Given the description of an element on the screen output the (x, y) to click on. 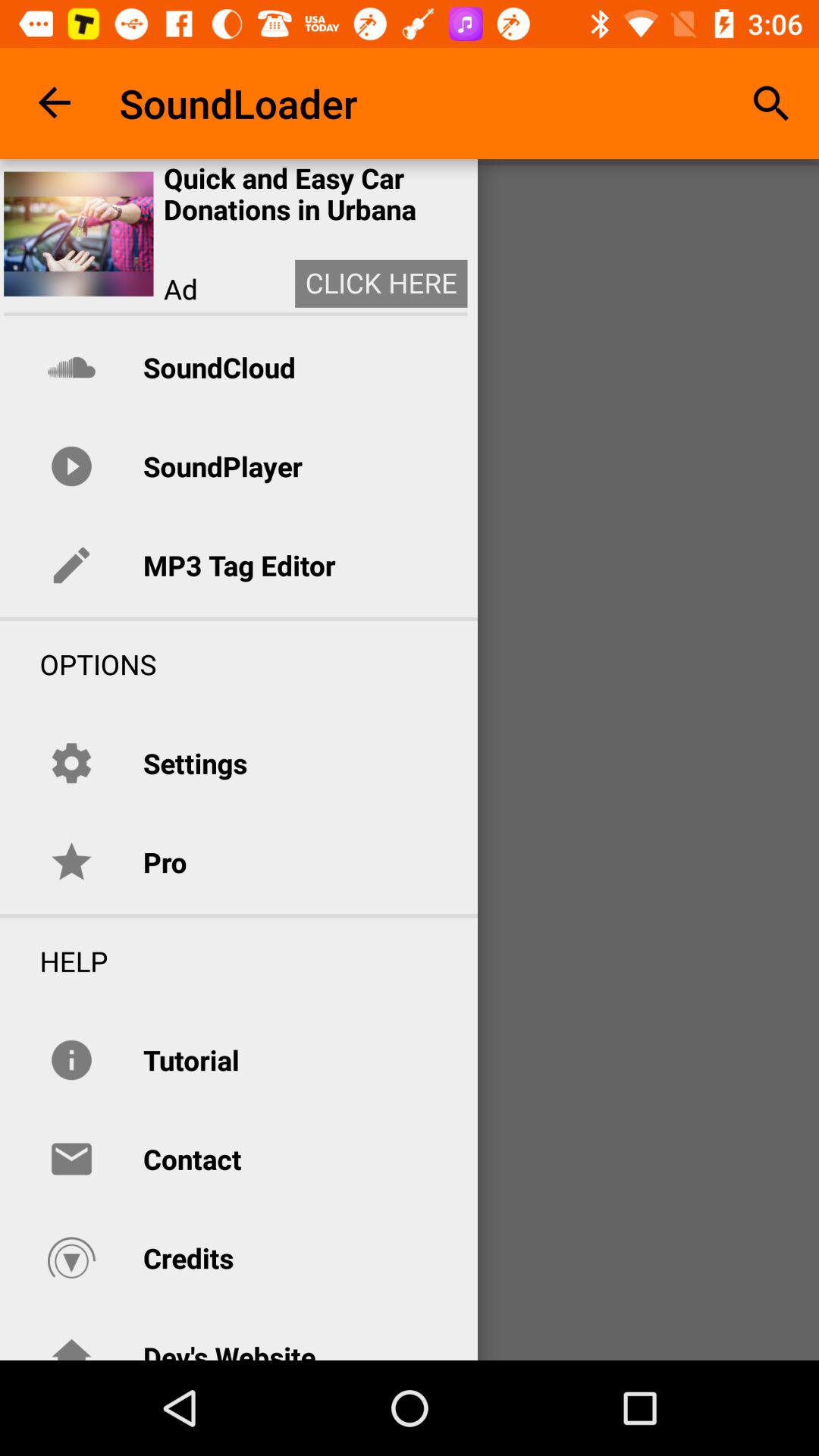
tap pro (165, 861)
